Given the description of an element on the screen output the (x, y) to click on. 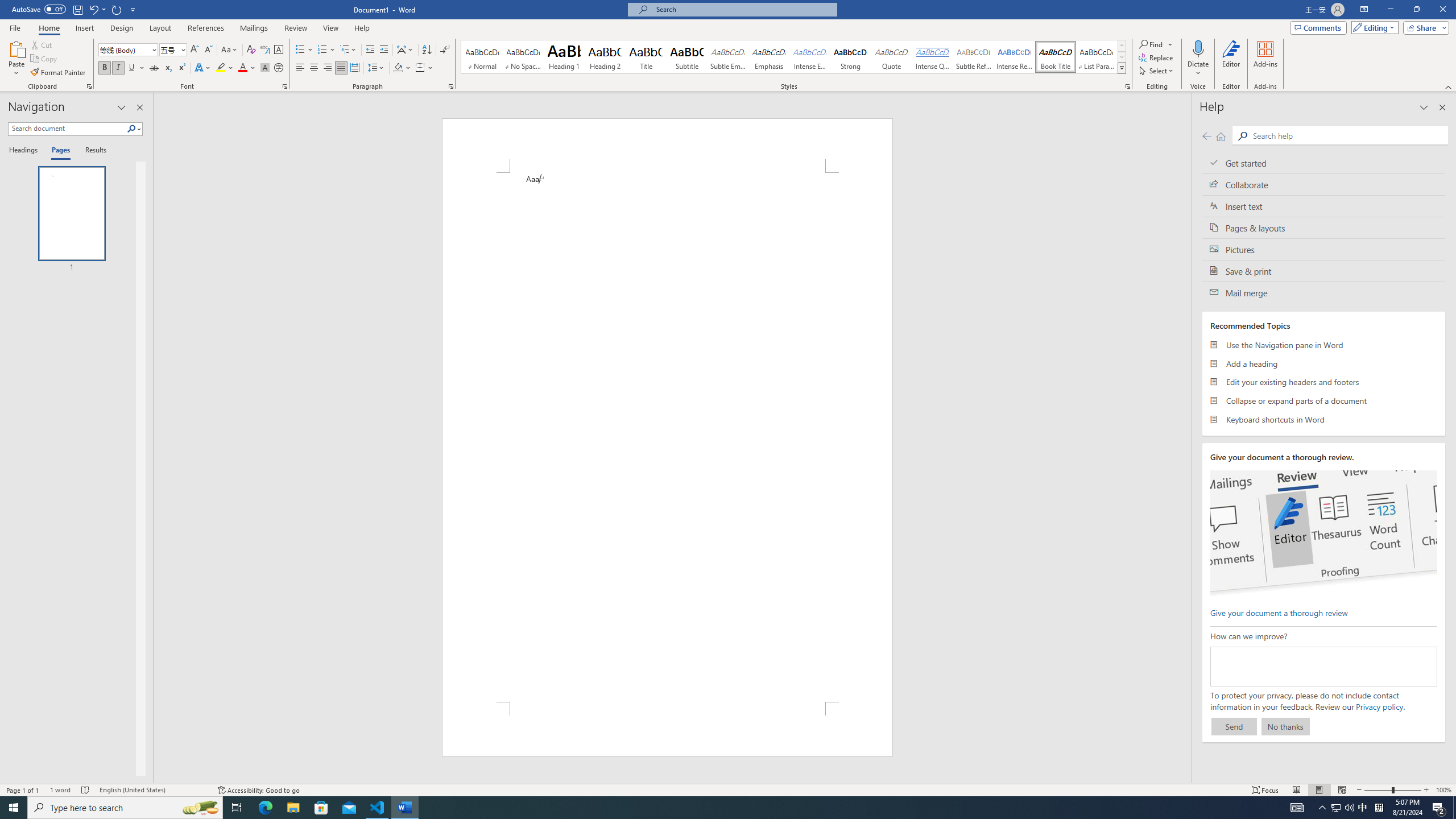
Subtle Emphasis (727, 56)
editor ui screenshot (1323, 533)
